Given the description of an element on the screen output the (x, y) to click on. 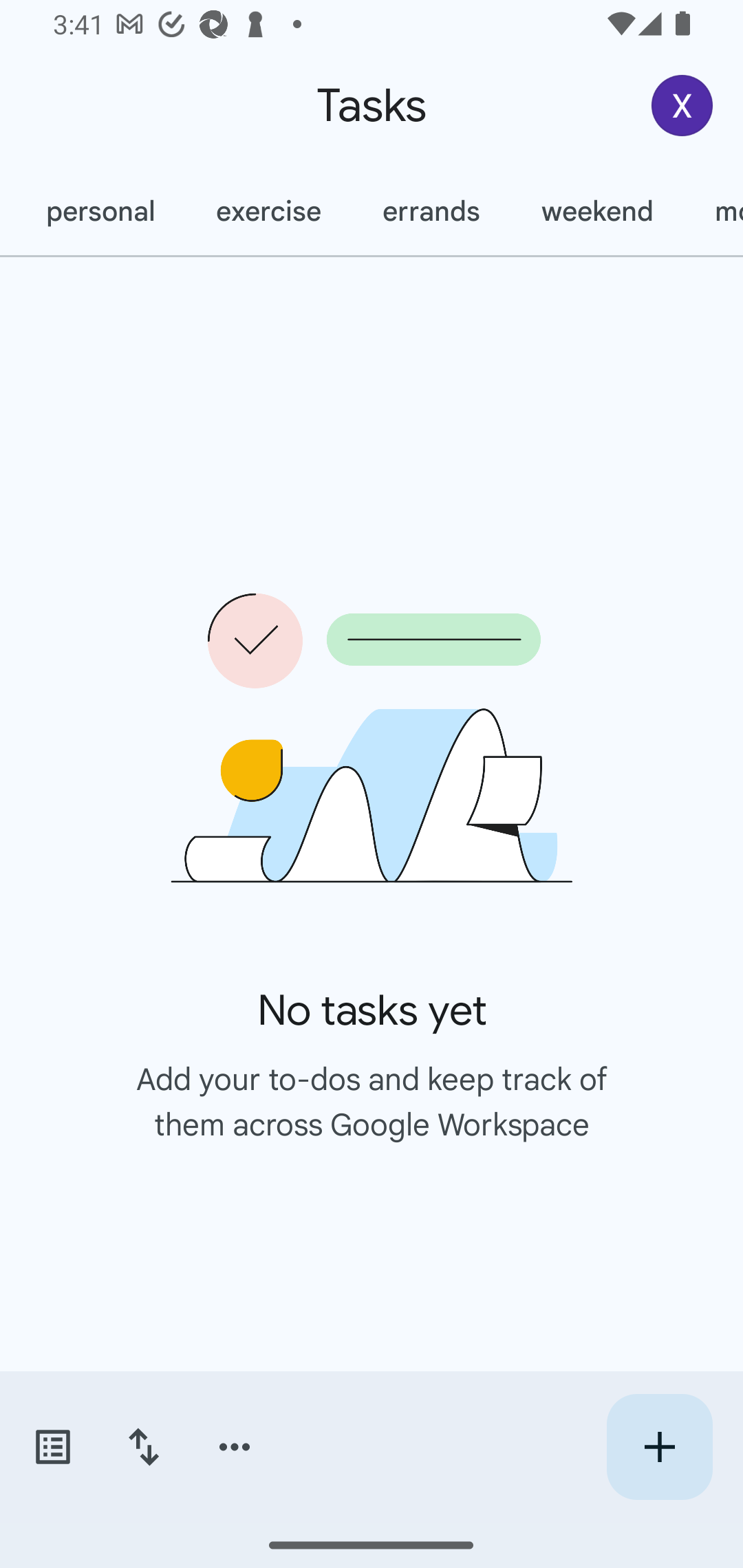
personal (99, 211)
exercise (268, 211)
errands (430, 211)
weekend (596, 211)
Switch task lists (52, 1447)
Create new task (659, 1446)
Change sort order (143, 1446)
More options (234, 1446)
